Given the description of an element on the screen output the (x, y) to click on. 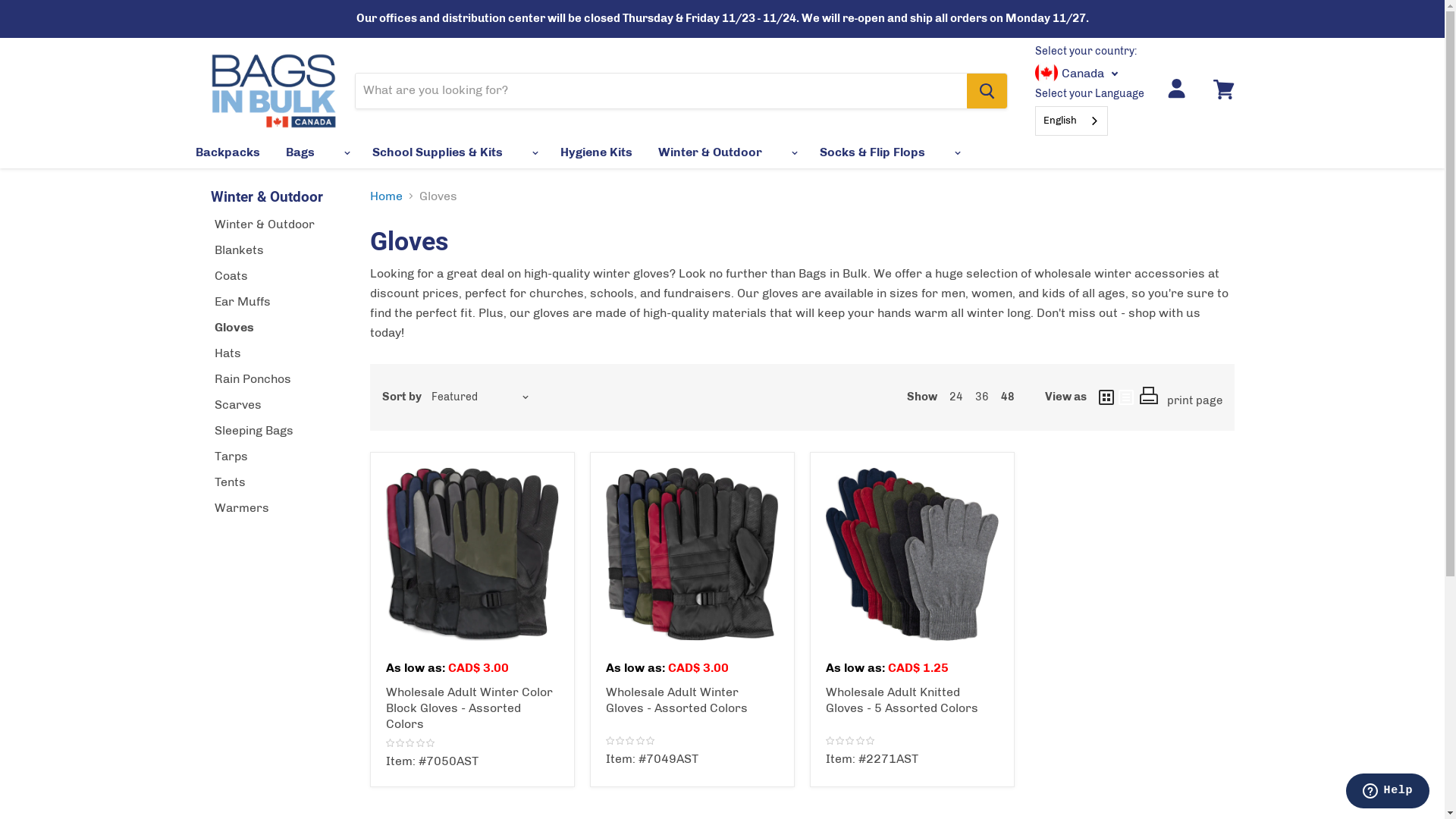
Backpacks Element type: text (226, 152)
Wholesale Adult Knitted Gloves - 5 Assorted Colors Element type: text (901, 699)
Winter & Outdoor Element type: text (709, 152)
Scarves Element type: text (236, 404)
Ear Muffs Element type: text (241, 301)
Socks & Flip Flops Element type: text (872, 152)
Coats Element type: text (230, 275)
Hats Element type: text (226, 352)
Wholesale Adult Winter Color Block Gloves - Assorted Colors Element type: text (468, 707)
Bags Element type: text (300, 152)
English Element type: text (1071, 120)
Hygiene Kits Element type: text (596, 152)
36 Element type: text (981, 396)
Winter & Outdoor Element type: text (263, 223)
Rain Ponchos Element type: text (251, 378)
Wholesale Adult Winter Gloves - Assorted Colors Element type: text (675, 699)
Home Element type: text (386, 196)
Tarps Element type: text (230, 455)
View cart Element type: text (1223, 88)
48 Element type: text (1007, 396)
Sleeping Bags Element type: text (252, 430)
24 Element type: text (956, 396)
Opens a widget where you can find more information Element type: hover (1387, 792)
print page Element type: text (1193, 400)
Blankets Element type: text (238, 249)
Winter & Outdoor Element type: text (266, 196)
Warmers Element type: text (240, 507)
School Supplies & Kits Element type: text (437, 152)
Tents Element type: text (228, 481)
